Given the description of an element on the screen output the (x, y) to click on. 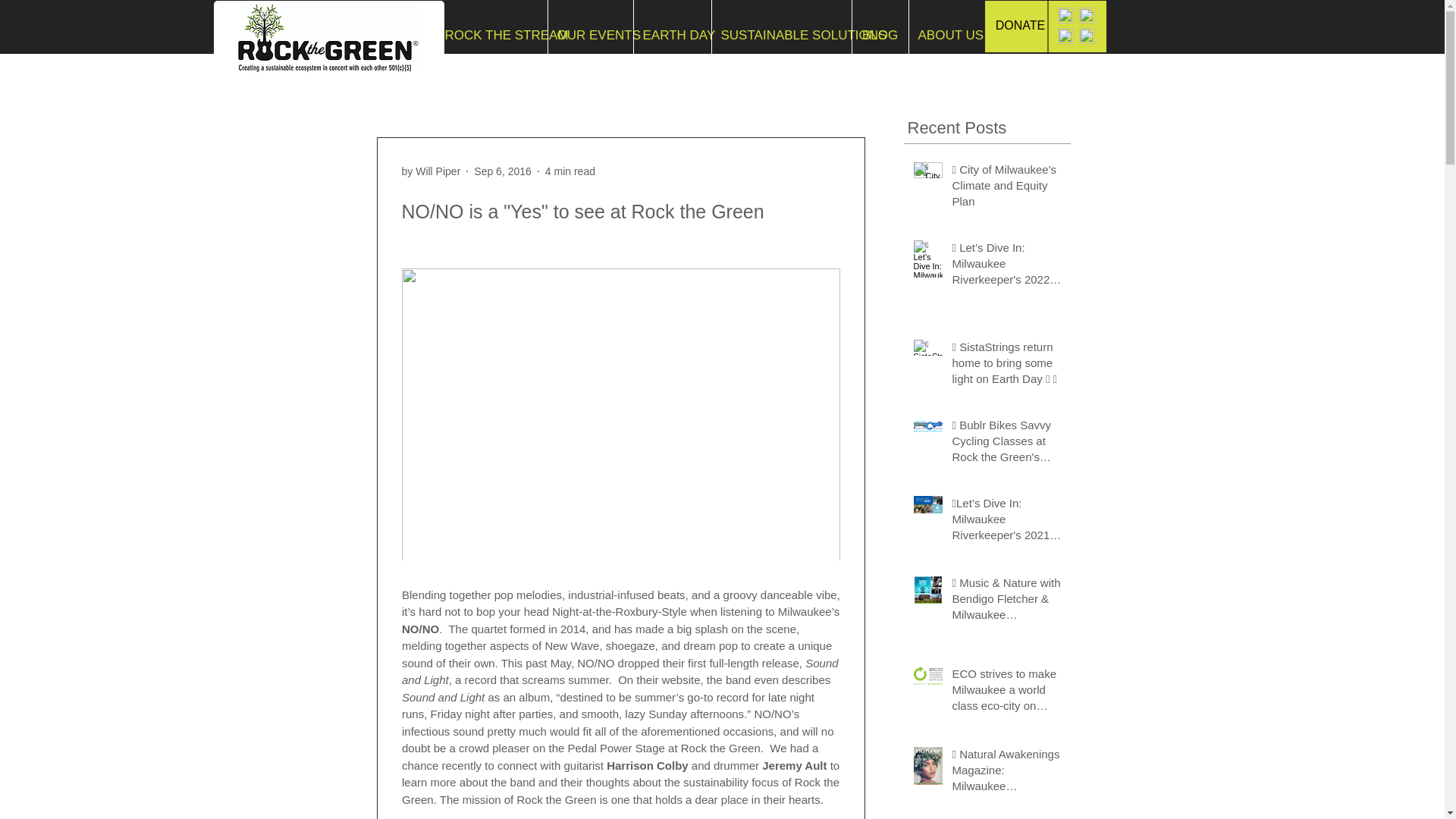
SUSTAINABLE SOLUTIONS (780, 35)
ROCK THE STREAM (491, 35)
by Will Piper (431, 171)
4 min read (569, 171)
Sep 6, 2016 (502, 171)
EARTH DAY (672, 35)
OUR EVENTS (589, 35)
